Given the description of an element on the screen output the (x, y) to click on. 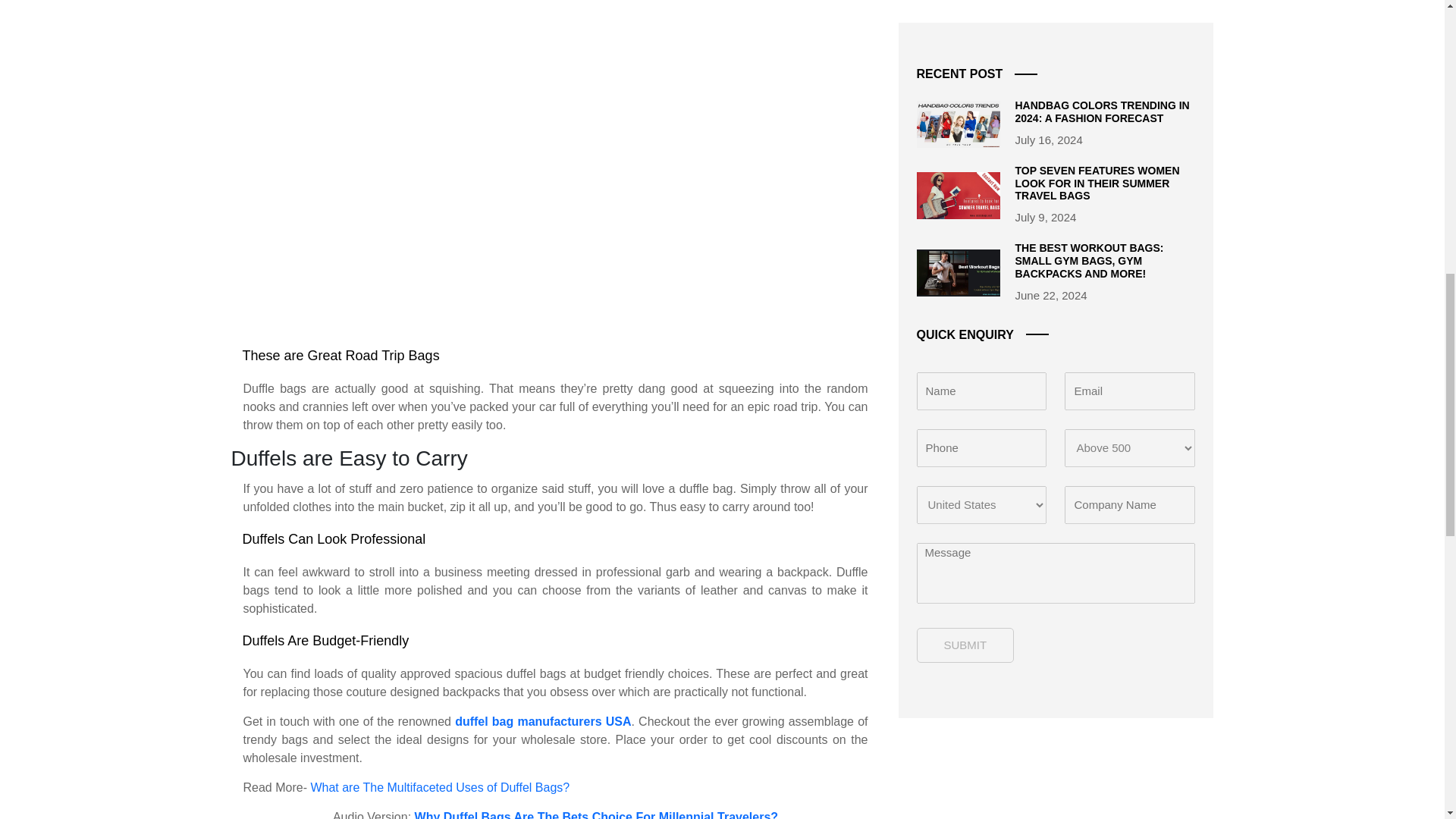
duffel bag manufacturers USA (542, 721)
What are The Multifaceted Uses of Duffel Bags? (439, 787)
